Given the description of an element on the screen output the (x, y) to click on. 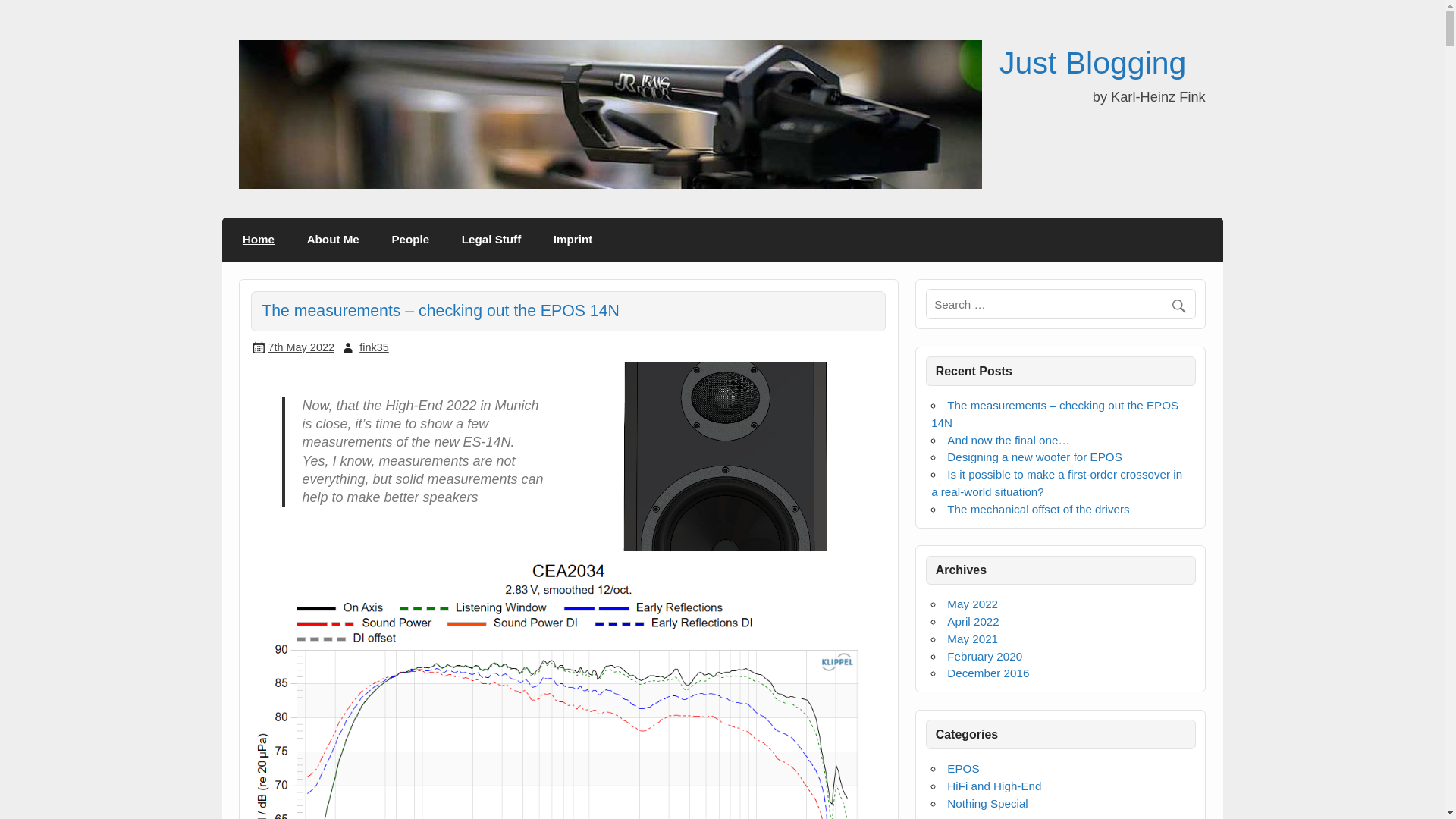
7th May 2022 (300, 346)
View all posts by fink35 (373, 346)
14:30 (300, 346)
People (410, 239)
Just Blogging (1092, 62)
About Me (332, 239)
Home (259, 239)
Legal Stuff (491, 239)
Imprint (572, 239)
fink35 (373, 346)
